Given the description of an element on the screen output the (x, y) to click on. 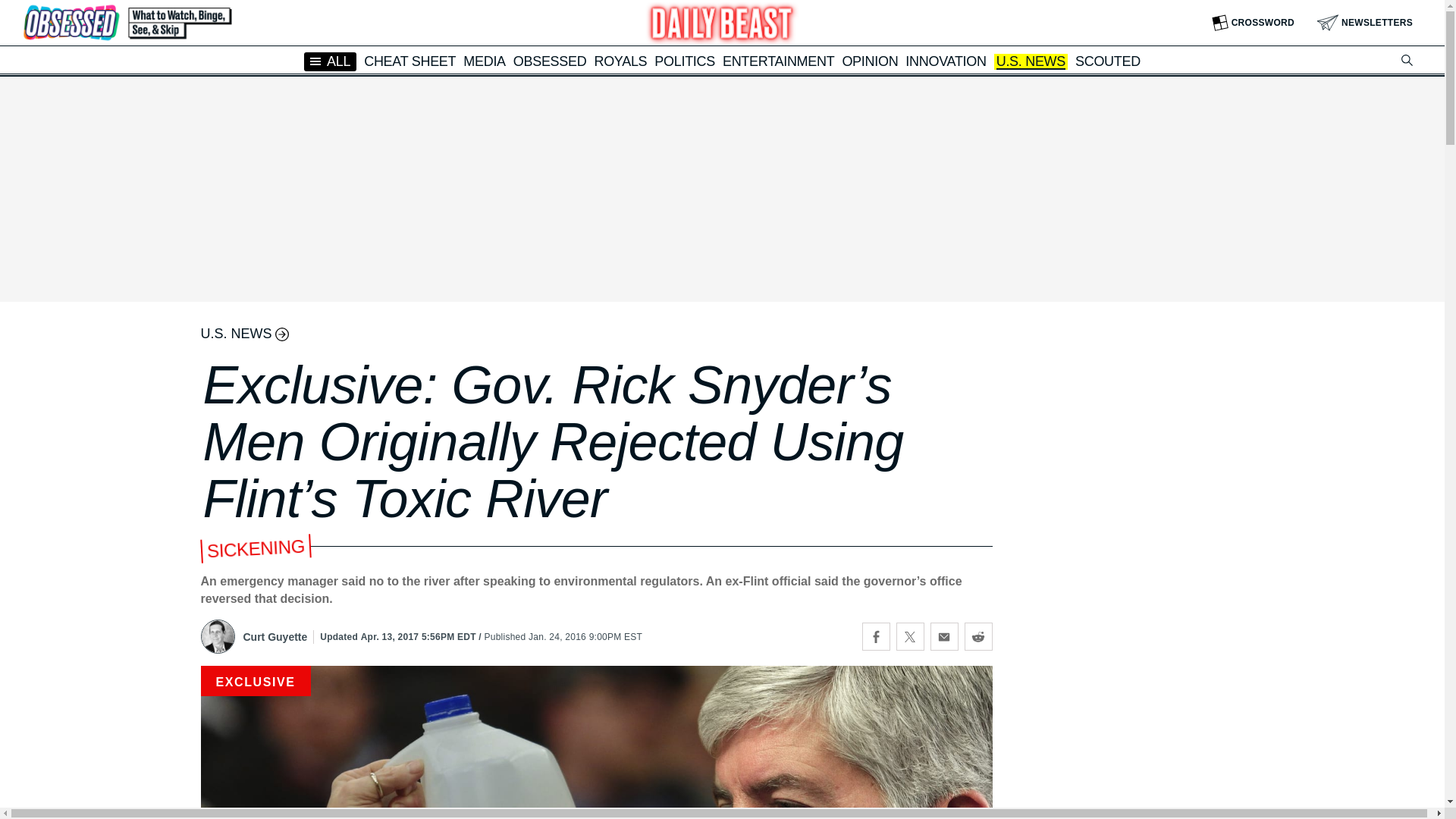
ROYALS (620, 60)
ALL (330, 60)
INNOVATION (945, 60)
U.S. NEWS (1030, 61)
OPINION (869, 60)
OBSESSED (549, 60)
POLITICS (683, 60)
MEDIA (484, 60)
NEWSLETTERS (1364, 22)
CROSSWORD (1252, 22)
